Given the description of an element on the screen output the (x, y) to click on. 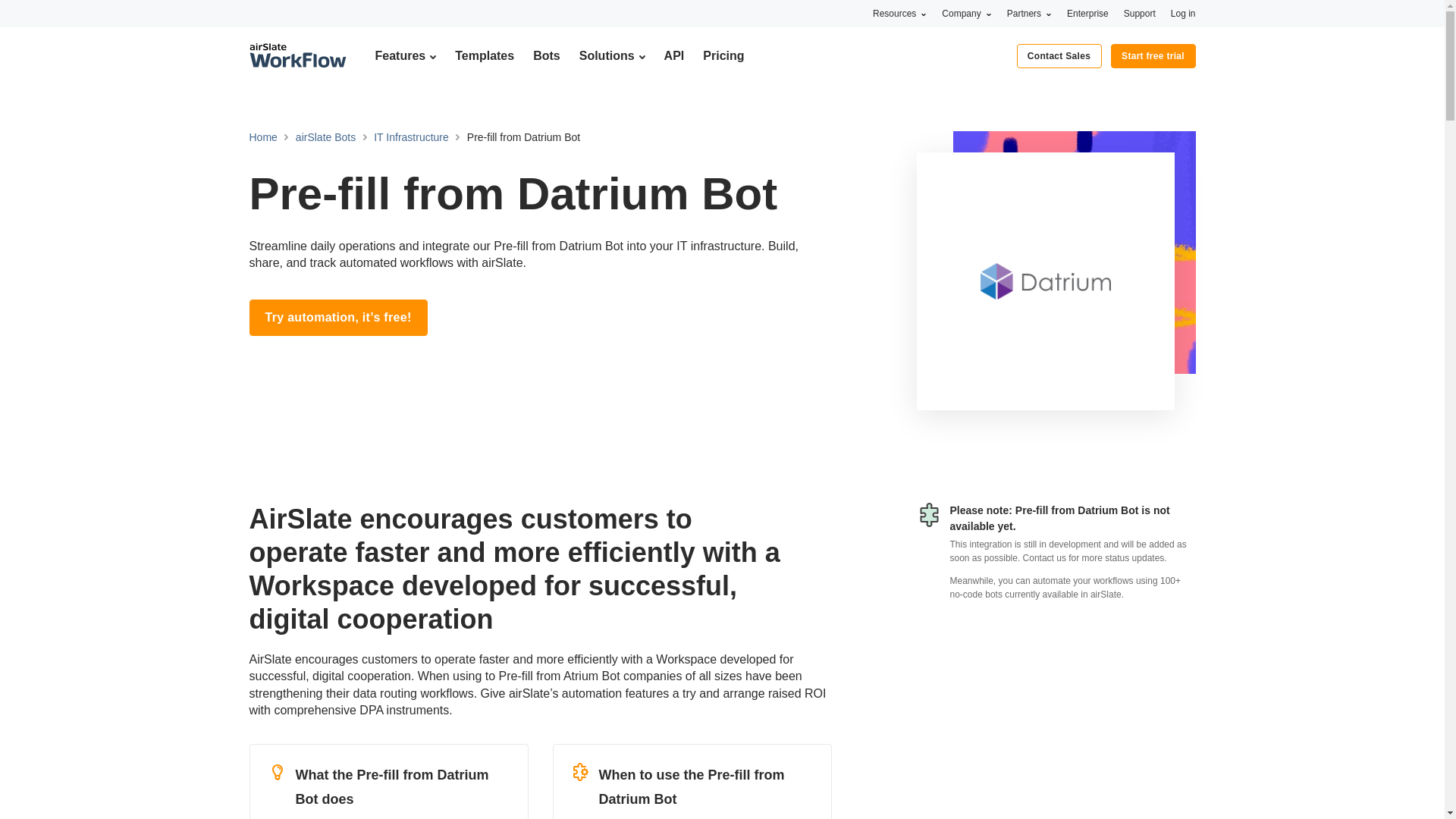
Resources (899, 13)
Enterprise (1087, 13)
Templates (483, 55)
Log in (1182, 13)
Support (1140, 13)
Partners (1029, 13)
Company (966, 13)
